Given the description of an element on the screen output the (x, y) to click on. 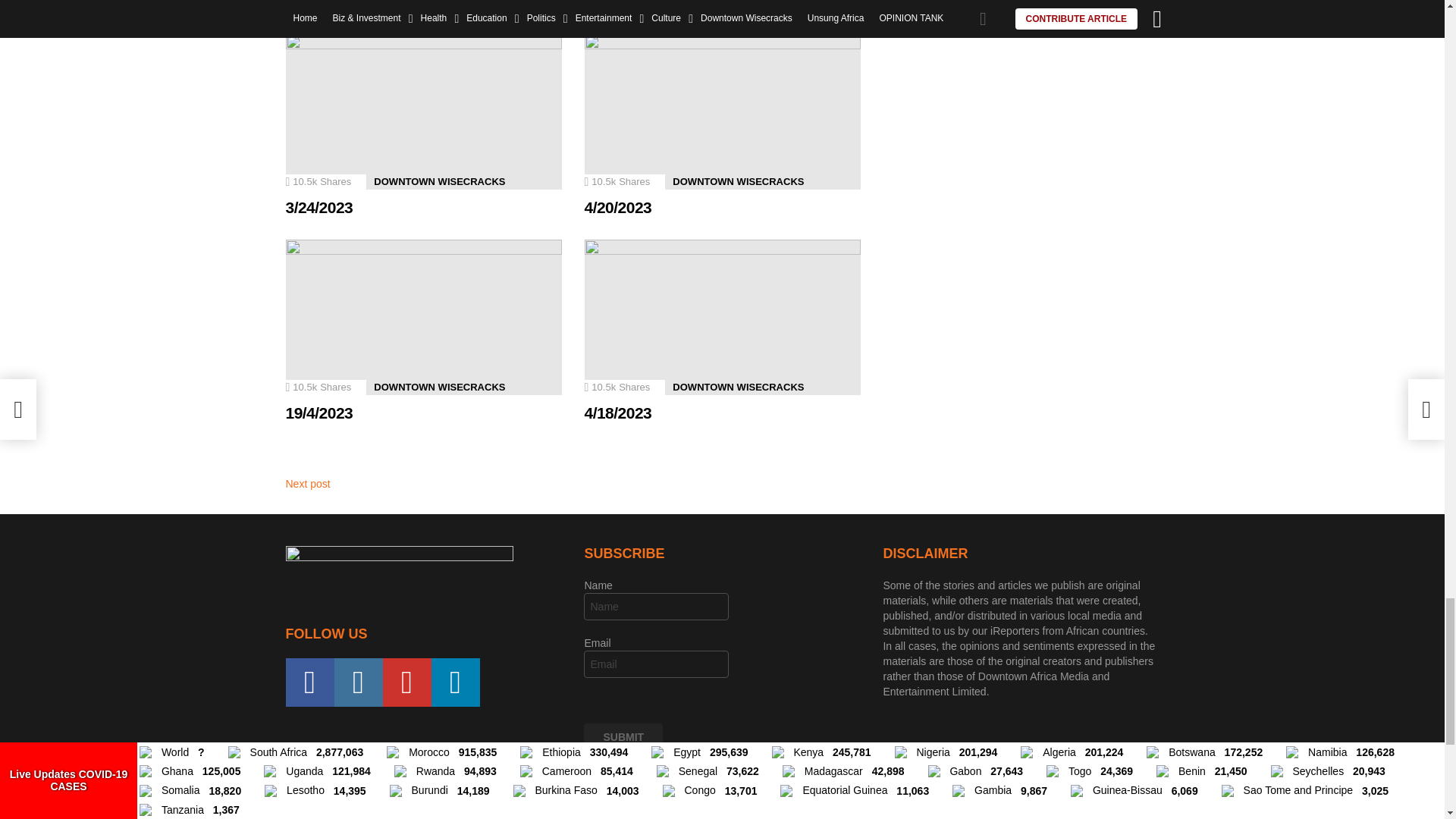
Submit (622, 737)
